Given the description of an element on the screen output the (x, y) to click on. 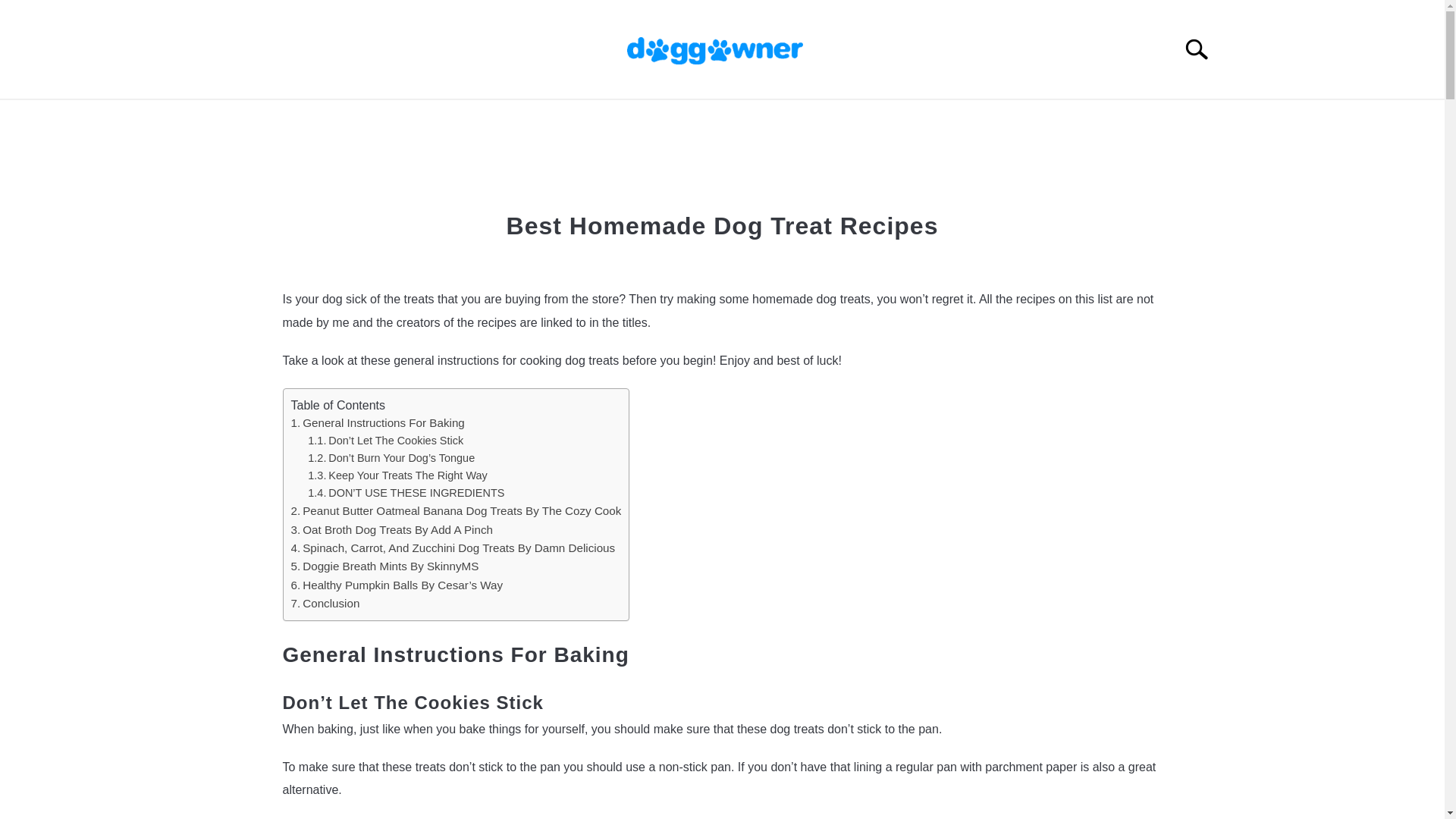
TOYS (844, 117)
General Instructions For Baking (377, 422)
Keep Your Treats The Right Way (396, 475)
BREEDS (427, 117)
Peanut Butter Oatmeal Banana Dog Treats By The Cozy Cook (456, 510)
Spinach, Carrot, And Zucchini Dog Treats By Damn Delicious (453, 547)
NAMES (509, 117)
TRAINING (596, 117)
Doggie Breath Mints By SkinnyMS (385, 565)
Spinach, Carrot, And Zucchini Dog Treats By Damn Delicious (453, 547)
Doggie Breath Mints By SkinnyMS (385, 565)
Keep Your Treats The Right Way (396, 475)
GROOMING (933, 117)
